Given the description of an element on the screen output the (x, y) to click on. 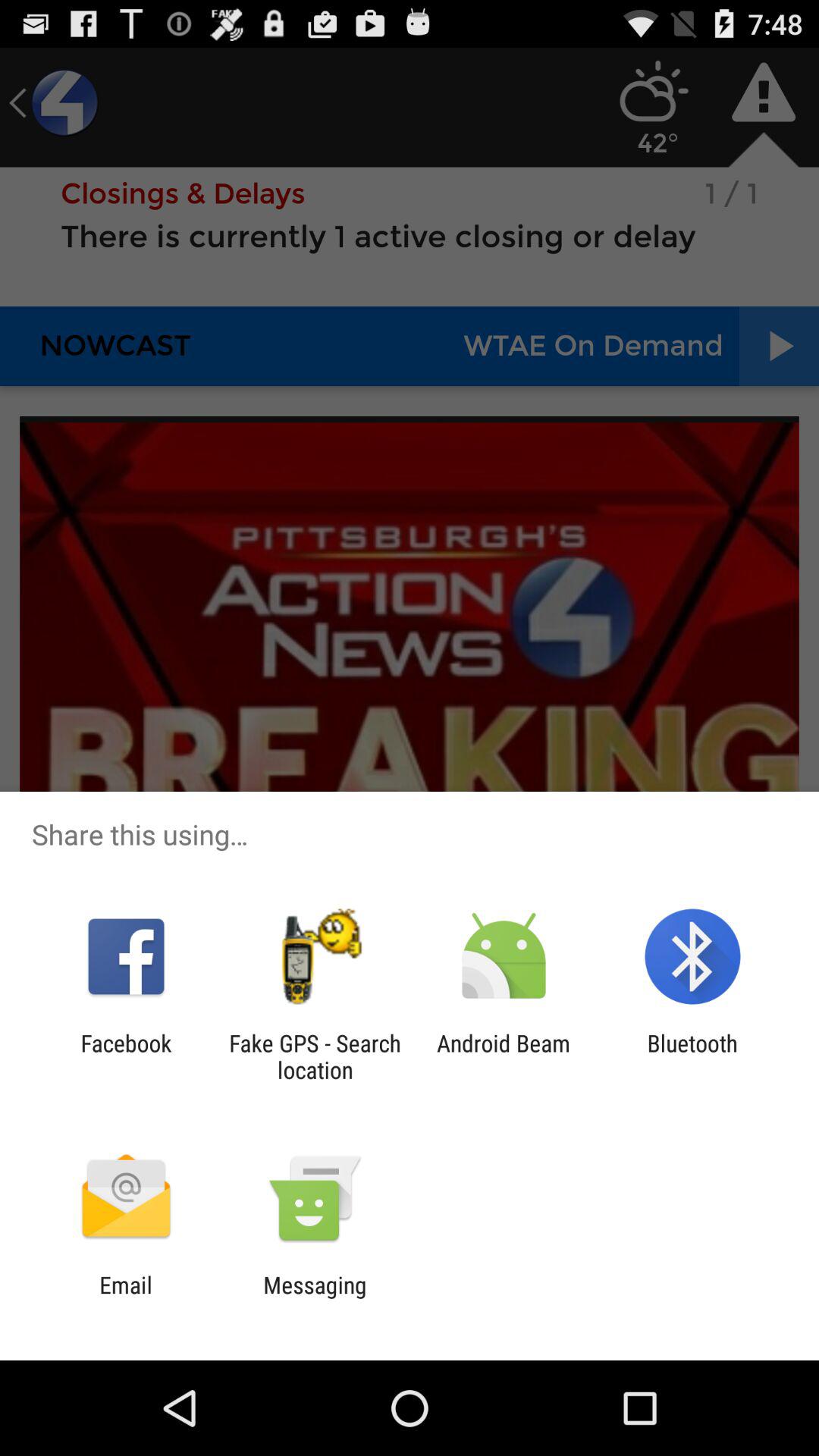
launch the facebook app (125, 1056)
